Given the description of an element on the screen output the (x, y) to click on. 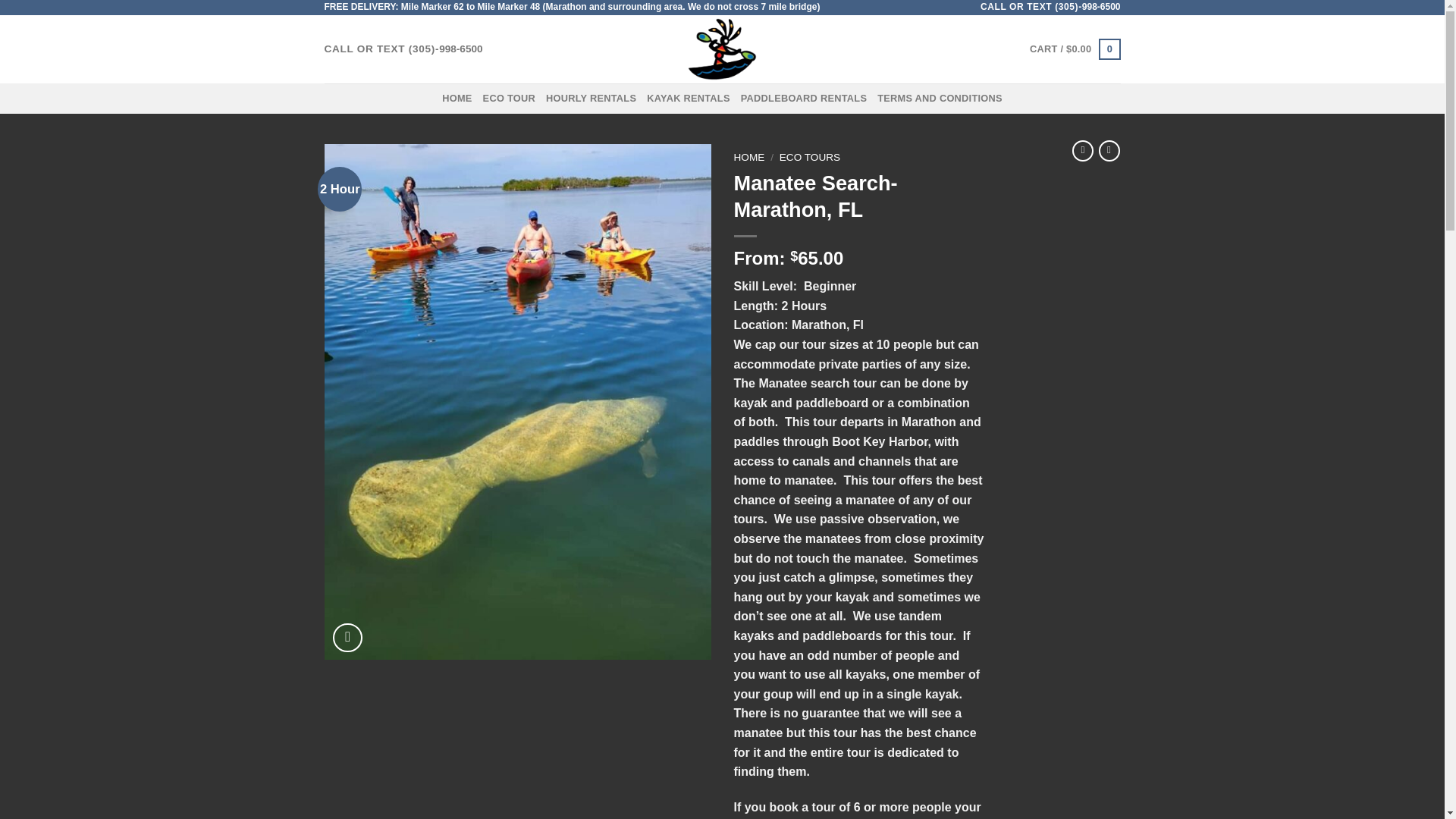
HOME (749, 156)
HOURLY RENTALS (591, 98)
PADDLEBOARD RENTALS (803, 98)
HOME (456, 98)
Cart (1074, 48)
Zoom (347, 637)
ECO TOURS (809, 156)
TERMS AND CONDITIONS (940, 98)
KAYAK RENTALS (688, 98)
